Given the description of an element on the screen output the (x, y) to click on. 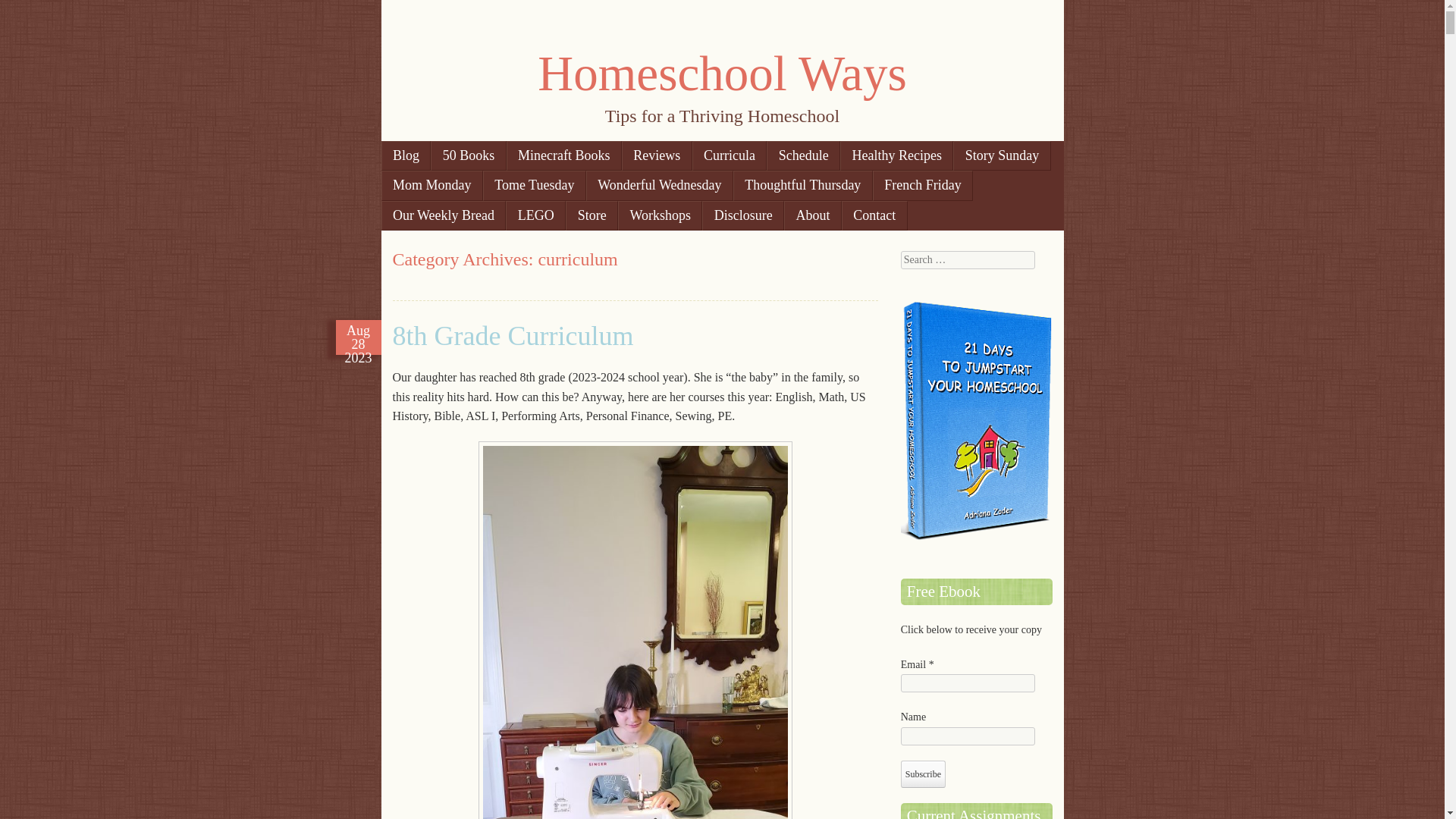
Our Weekly Bread (442, 215)
Thoughtful Thursday (802, 184)
Healthy Recipes (896, 155)
Story Sunday (1001, 155)
Subscribe (922, 773)
Workshops (659, 215)
Curricula (730, 155)
Skip to content (433, 155)
Minecraft Books (563, 155)
Homeschool Ways (721, 72)
Schedule (803, 155)
50 Books (467, 155)
Disclosure (742, 215)
LEGO (535, 215)
Tome Tuesday (534, 184)
